Given the description of an element on the screen output the (x, y) to click on. 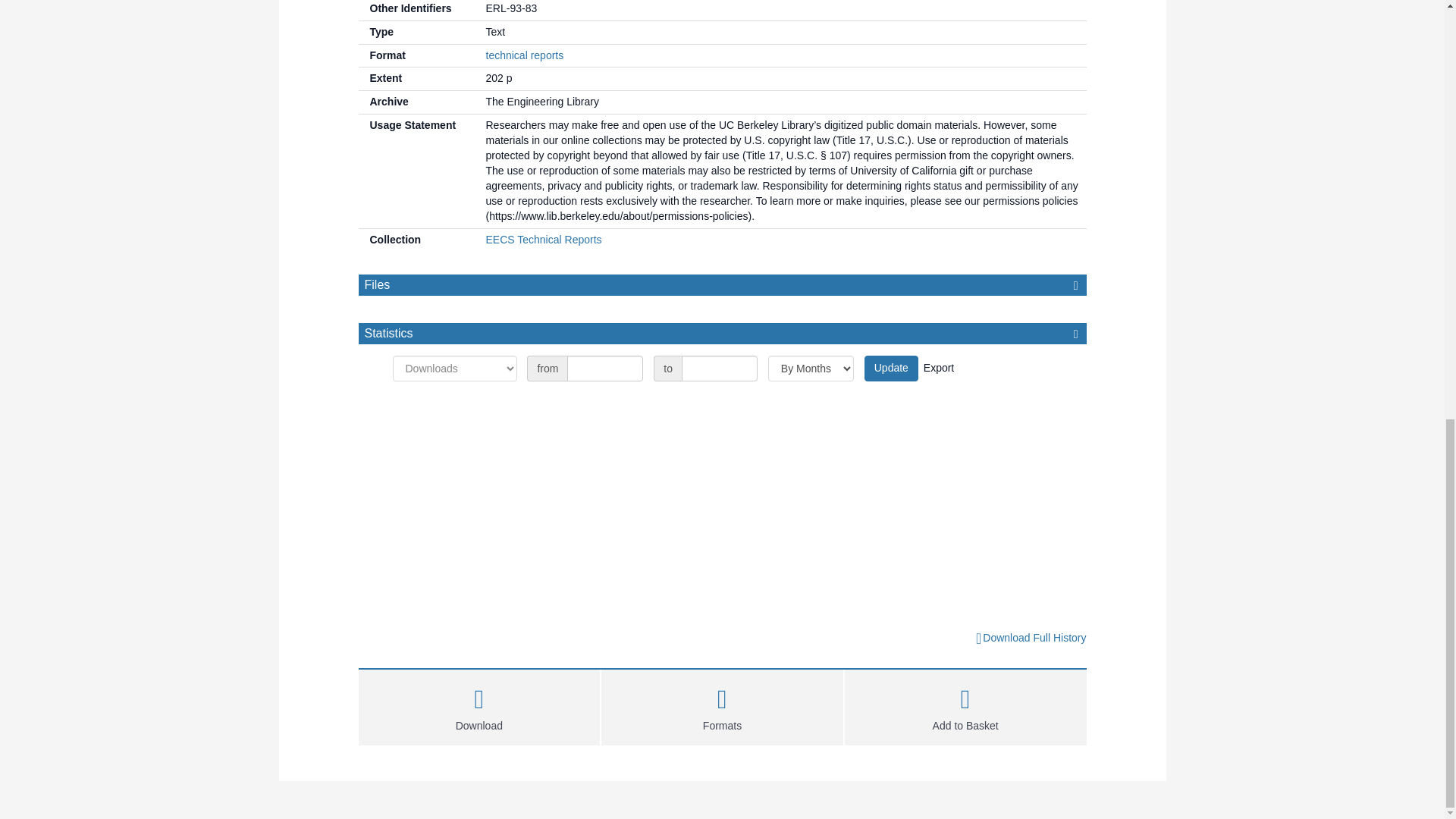
technical reports (523, 55)
Download Full History (1030, 639)
EECS Technical Reports (542, 239)
Update (891, 368)
Download (478, 705)
